Given the description of an element on the screen output the (x, y) to click on. 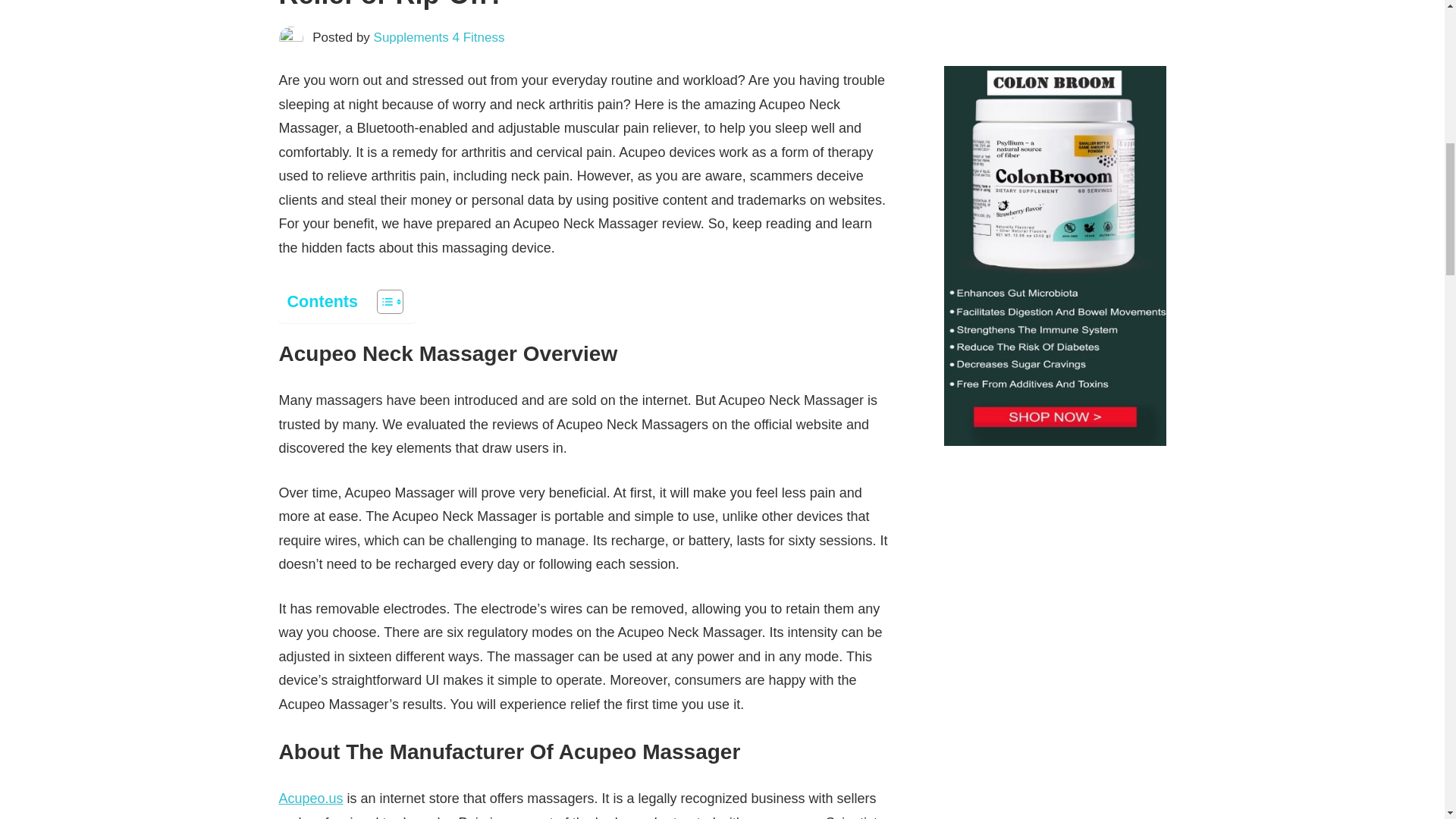
Acupeo.us (311, 798)
View all posts by Supplements 4 Fitness (439, 37)
Supplements 4 Fitness (439, 37)
